Given the description of an element on the screen output the (x, y) to click on. 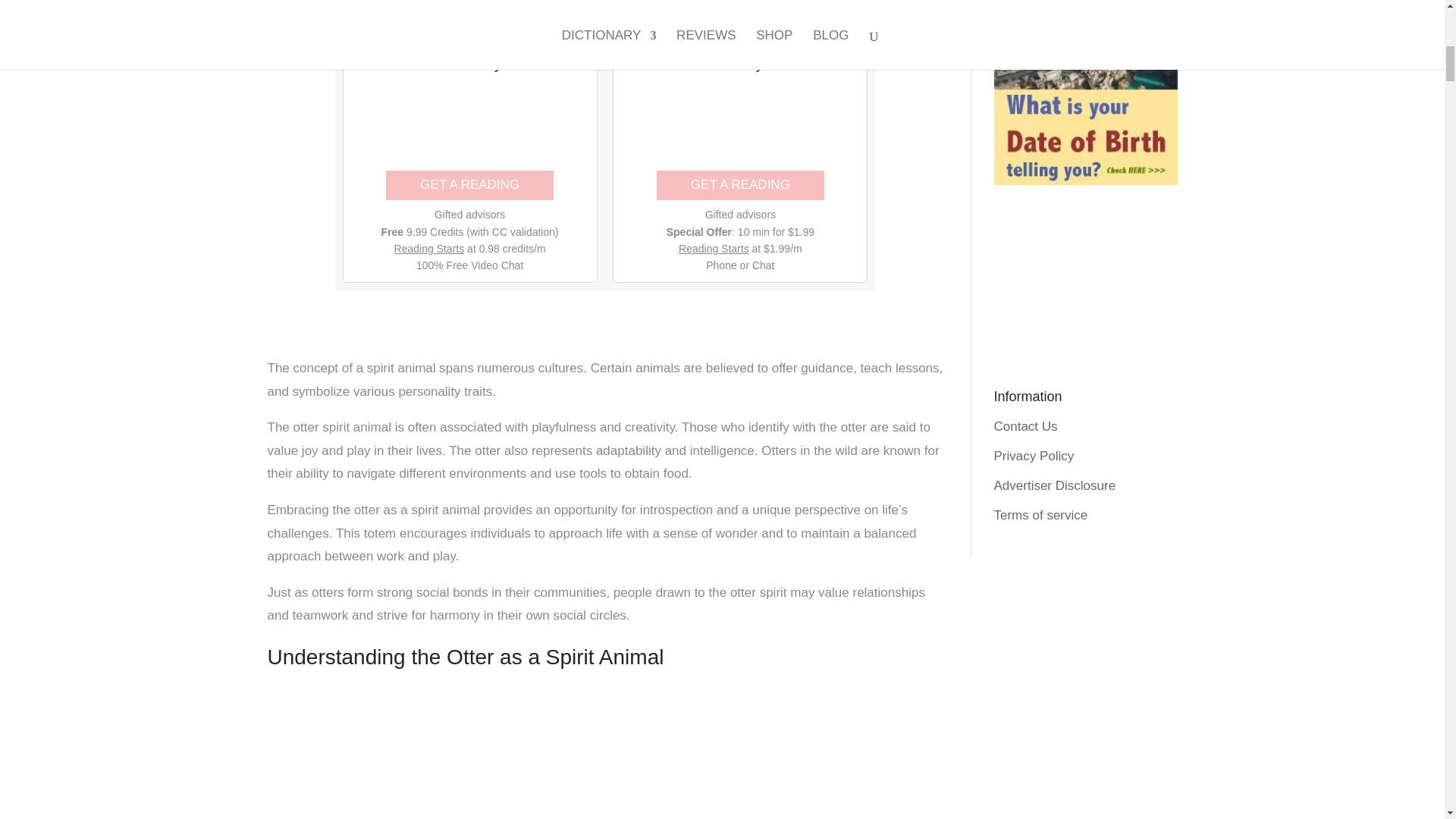
Contact Us (1024, 426)
GET A READING (740, 184)
keen psychic (739, 127)
Privacy Policy (1033, 455)
Oranum psychic (470, 127)
GET A READING (469, 184)
